Given the description of an element on the screen output the (x, y) to click on. 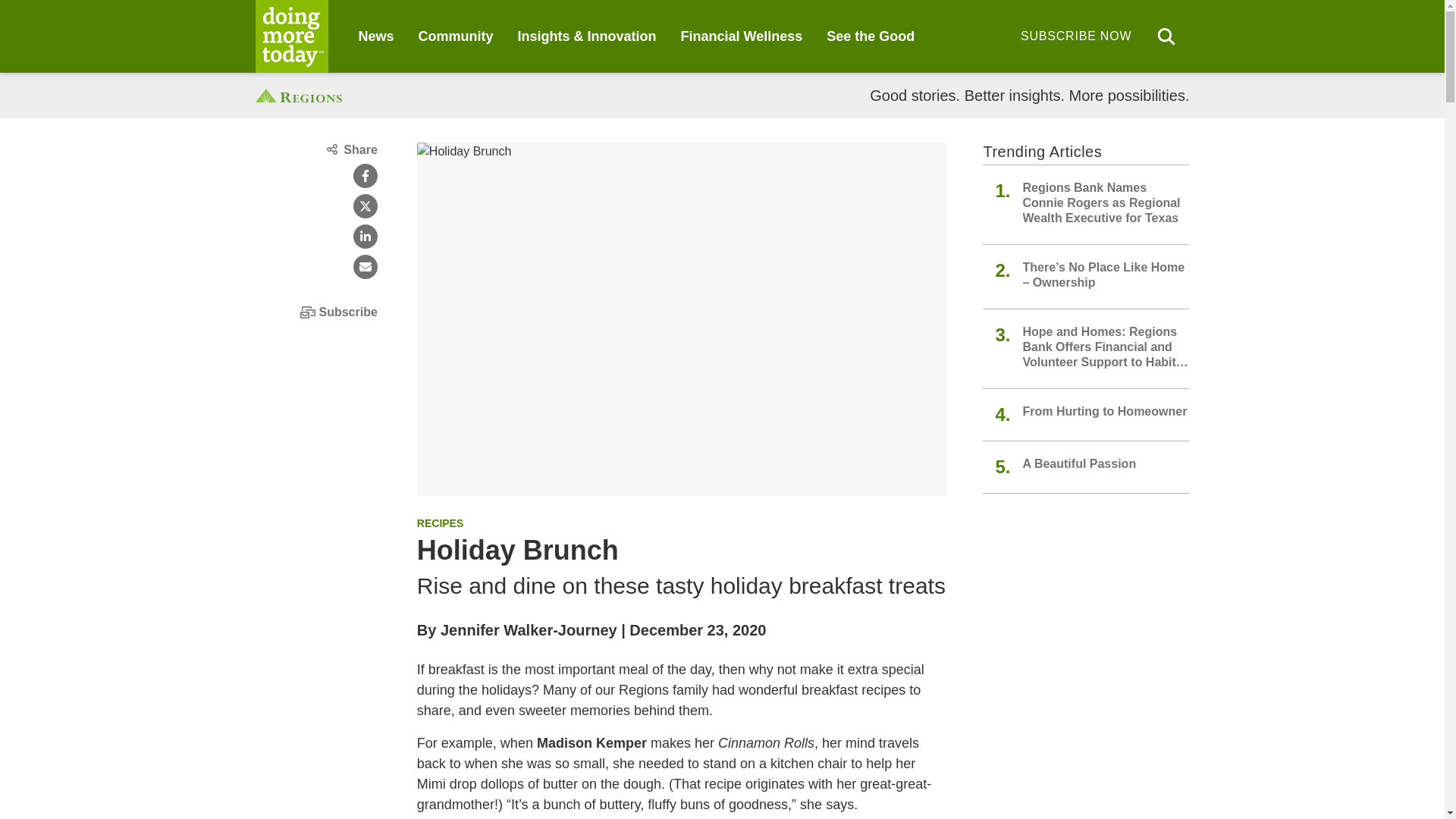
Share via Email (365, 266)
Community (456, 35)
Share on Facebook (365, 175)
Subscribe (315, 312)
Share on X (365, 206)
RECIPES (439, 522)
Share via Email (365, 266)
SUBSCRIBE NOW (1075, 36)
News (375, 35)
Financial Wellness (742, 35)
See the Good (870, 35)
Share on LinkedIn (365, 236)
